Given the description of an element on the screen output the (x, y) to click on. 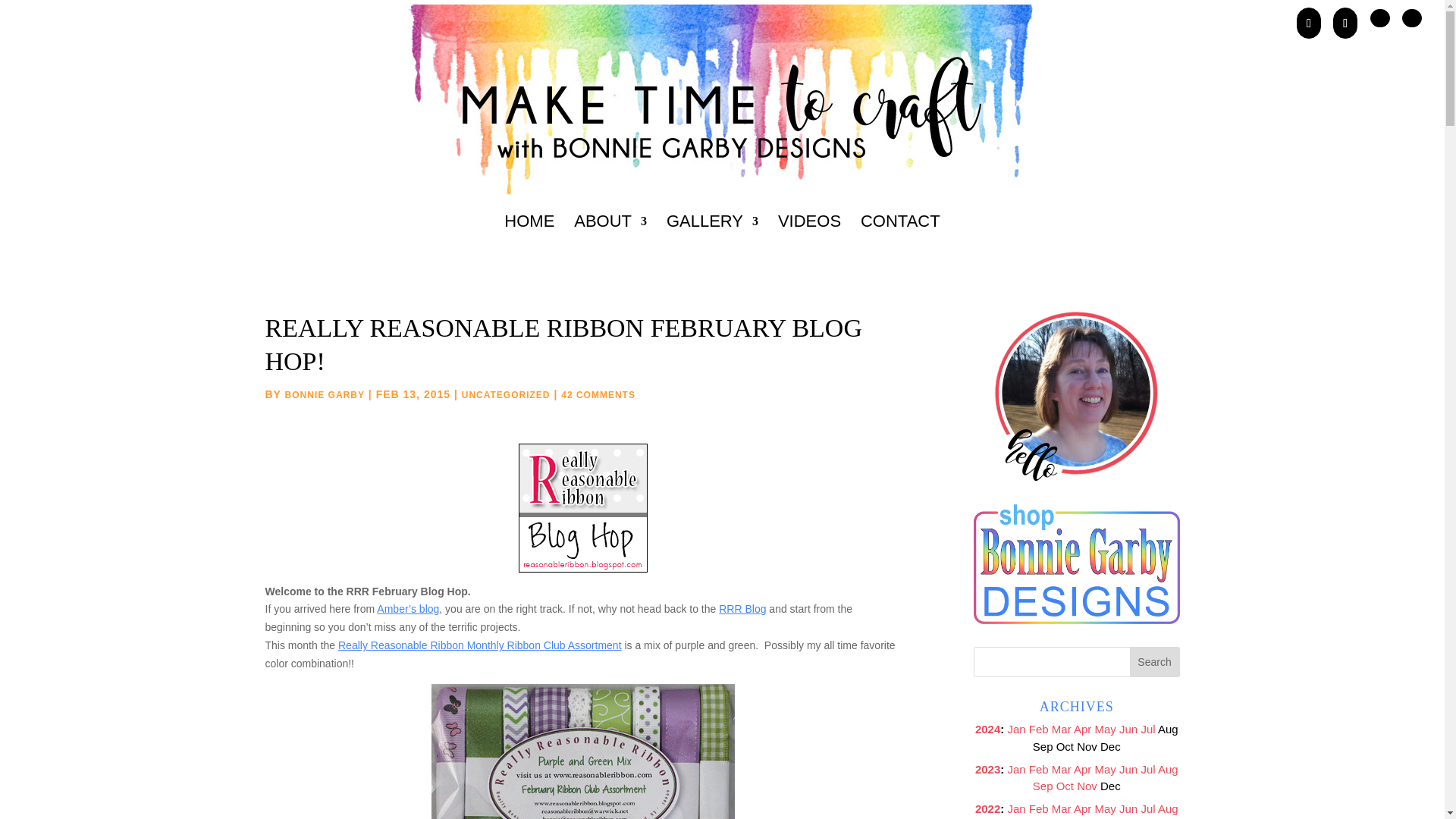
CONTACT (900, 240)
GALLERY (712, 240)
April 2001 (1082, 728)
July 2001 (1147, 728)
UNCATEGORIZED (505, 394)
HOME (528, 240)
February 2001 (1038, 728)
VIDEOS (809, 240)
March 2001 (1061, 728)
May 2001 (1105, 728)
Search (1154, 662)
Posts by Bonnie Garby (325, 394)
June 2001 (1128, 728)
ABOUT (609, 240)
January 2001 (1016, 728)
